Given the description of an element on the screen output the (x, y) to click on. 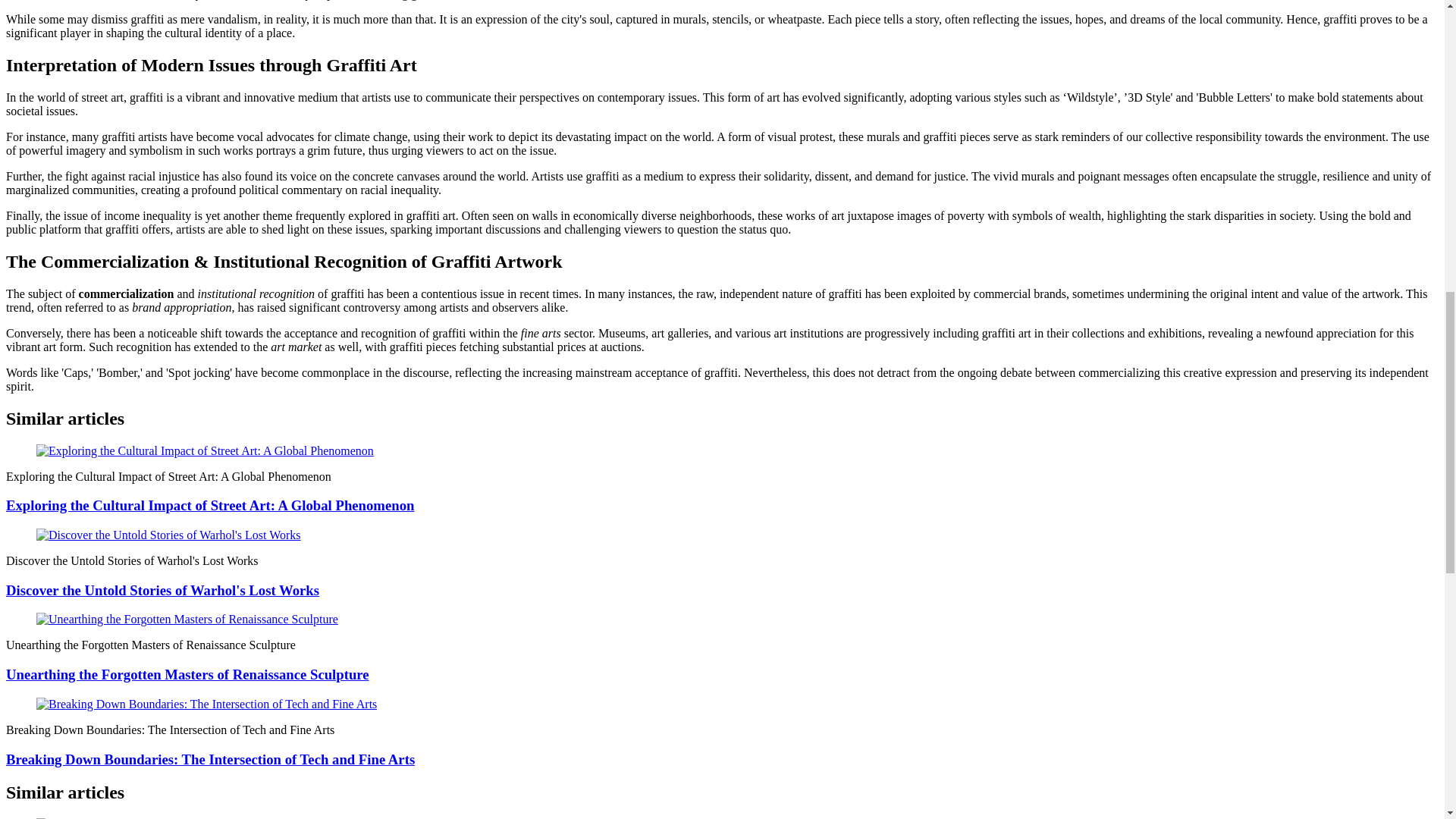
Discover the Untold Stories of Warhol's Lost Works (161, 590)
Discover the Untold Stories of Warhol's Lost Works (168, 534)
Unearthing the Forgotten Masters of Renaissance Sculpture (186, 618)
Unearthing the Forgotten Masters of Renaissance Sculpture (187, 674)
Discover the Untold Stories of Warhol's Lost Works (161, 590)
Unearthing the Forgotten Masters of Renaissance Sculpture (187, 674)
